Given the description of an element on the screen output the (x, y) to click on. 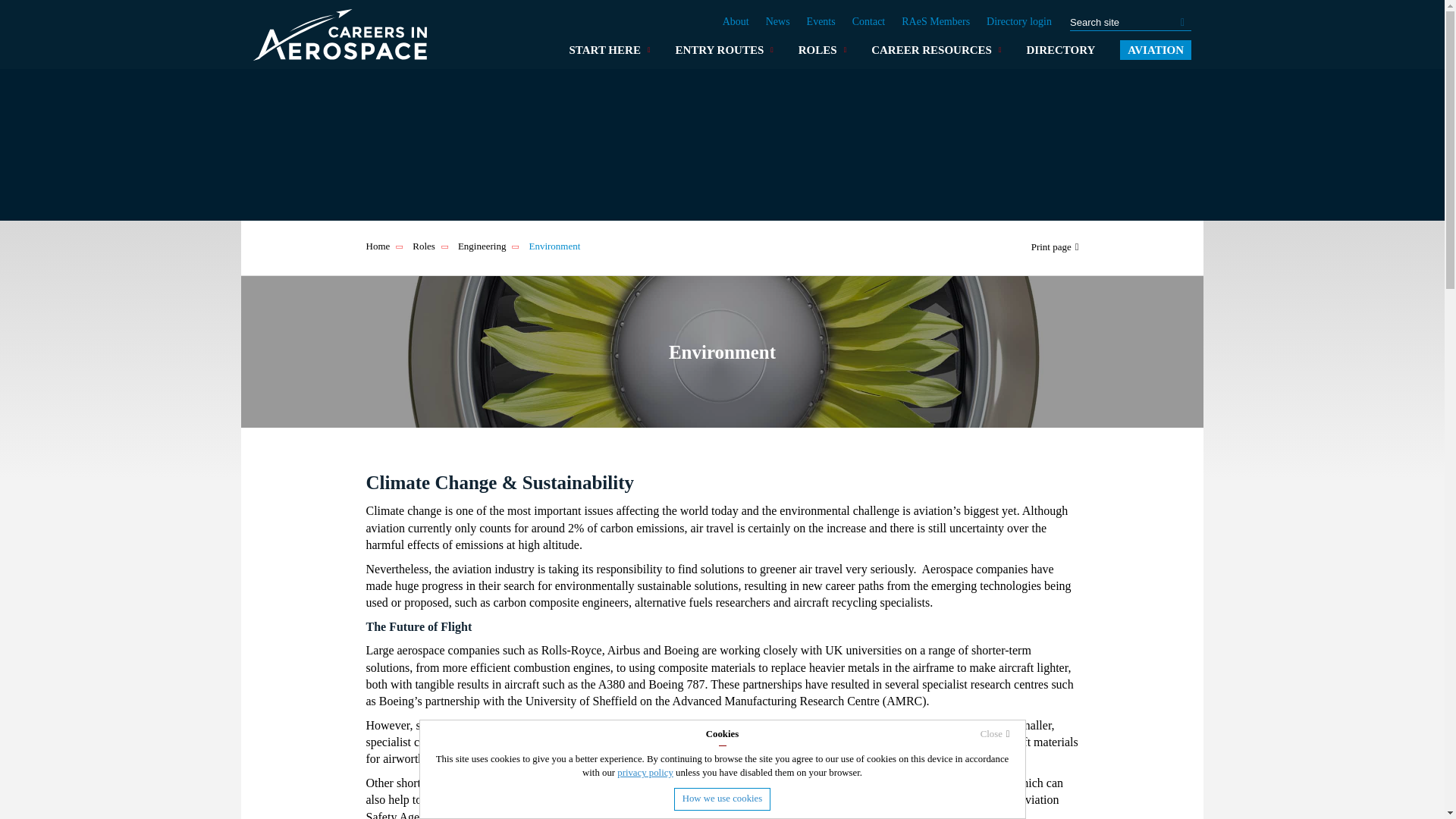
ROLES (818, 49)
Contact (868, 21)
RAeS Members (935, 21)
ENTRY ROUTES (721, 49)
About (735, 21)
Directory login (1019, 21)
News (777, 21)
Events (820, 21)
START HERE (607, 49)
